Given the description of an element on the screen output the (x, y) to click on. 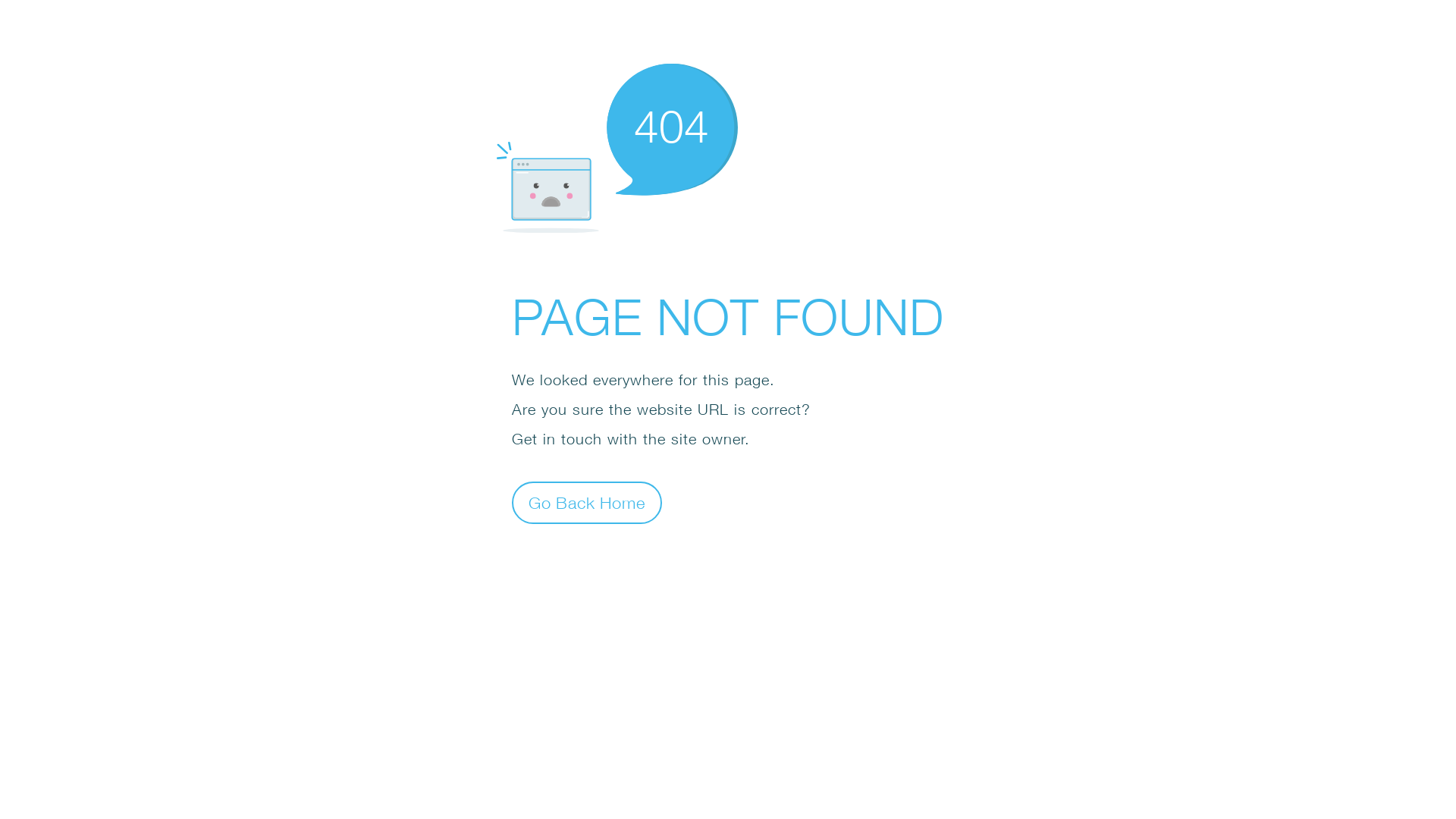
Go Back Home Element type: text (586, 502)
